Given the description of an element on the screen output the (x, y) to click on. 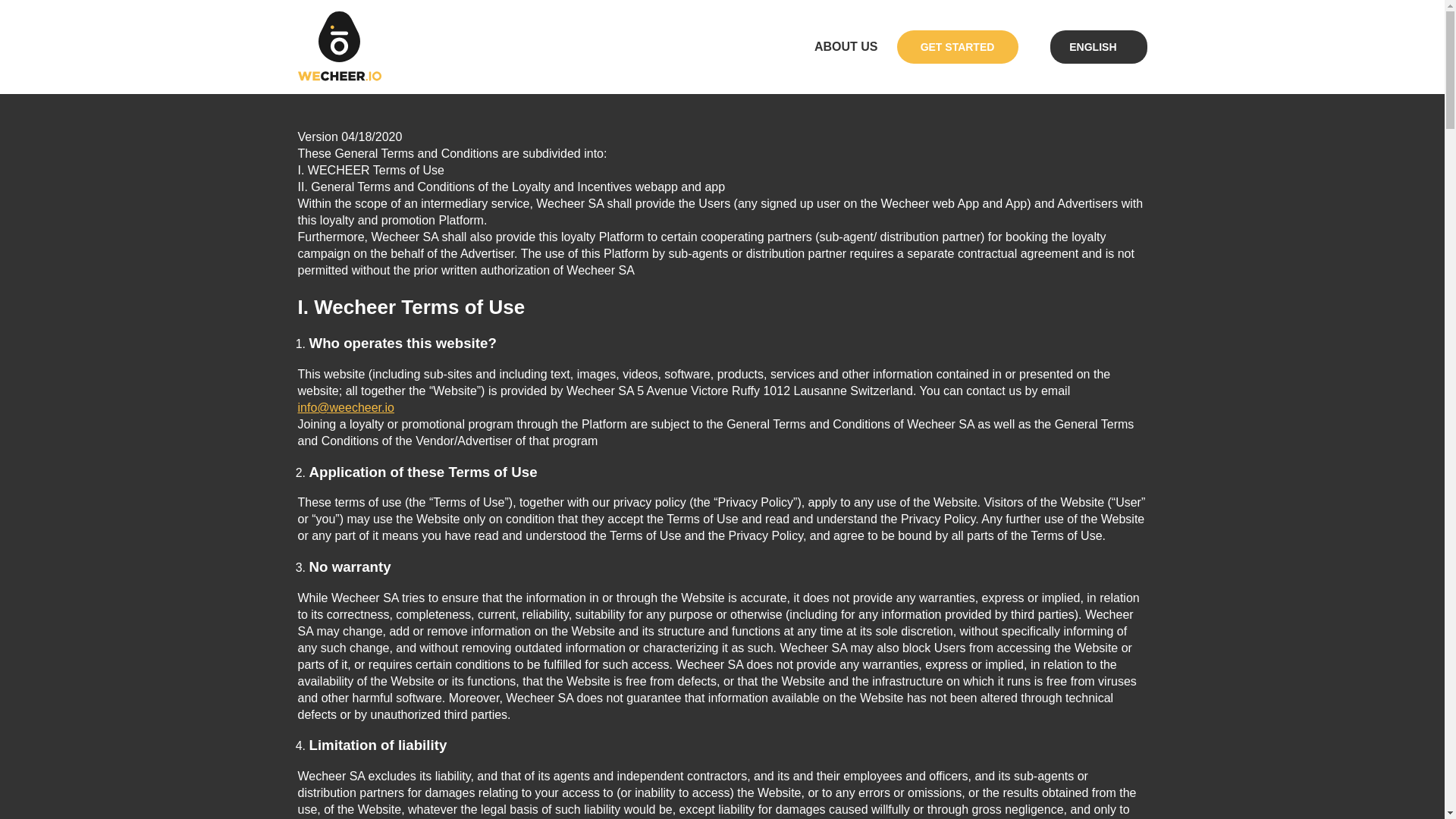
GET STARTED (956, 46)
ENGLISH (1092, 46)
ABOUT US (845, 46)
